Given the description of an element on the screen output the (x, y) to click on. 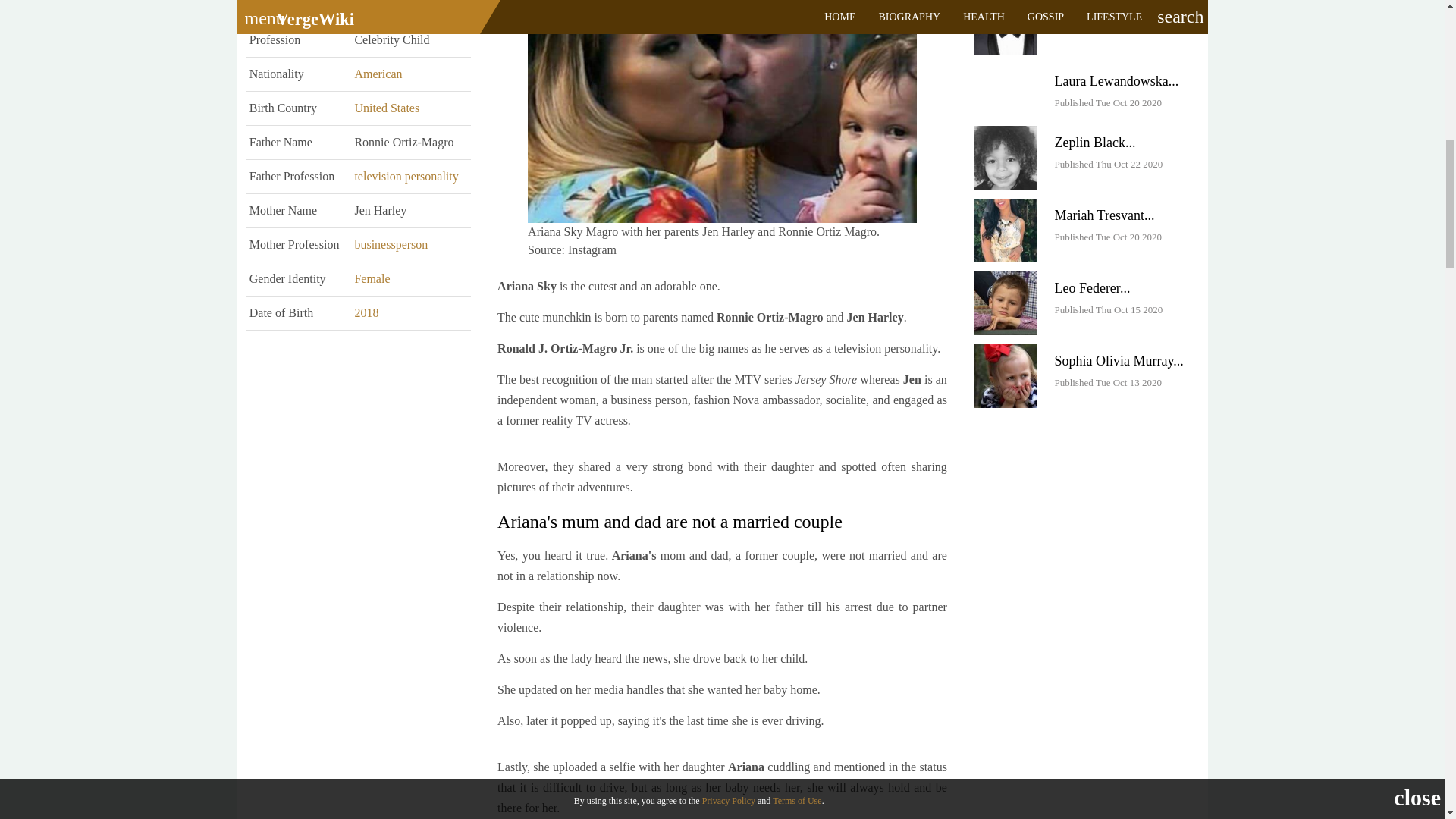
businessperson (390, 244)
Female (371, 278)
United States (386, 107)
2018 (365, 312)
television personality (405, 175)
American (377, 73)
Damon Wayans Jr.  (1005, 27)
